Given the description of an element on the screen output the (x, y) to click on. 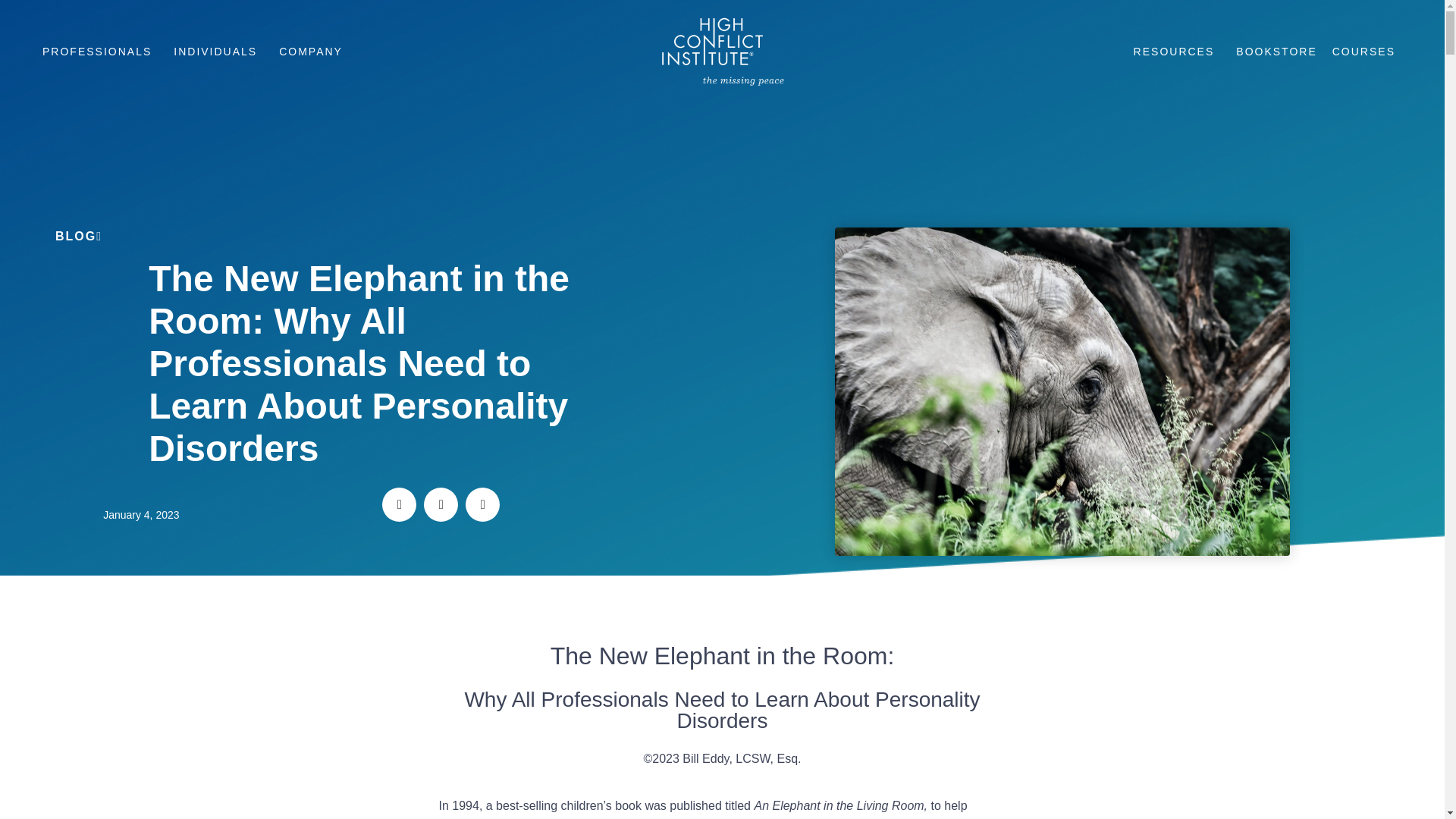
COMPANY (314, 51)
PROFESSIONALS (100, 51)
INDIVIDUALS (218, 51)
